Given the description of an element on the screen output the (x, y) to click on. 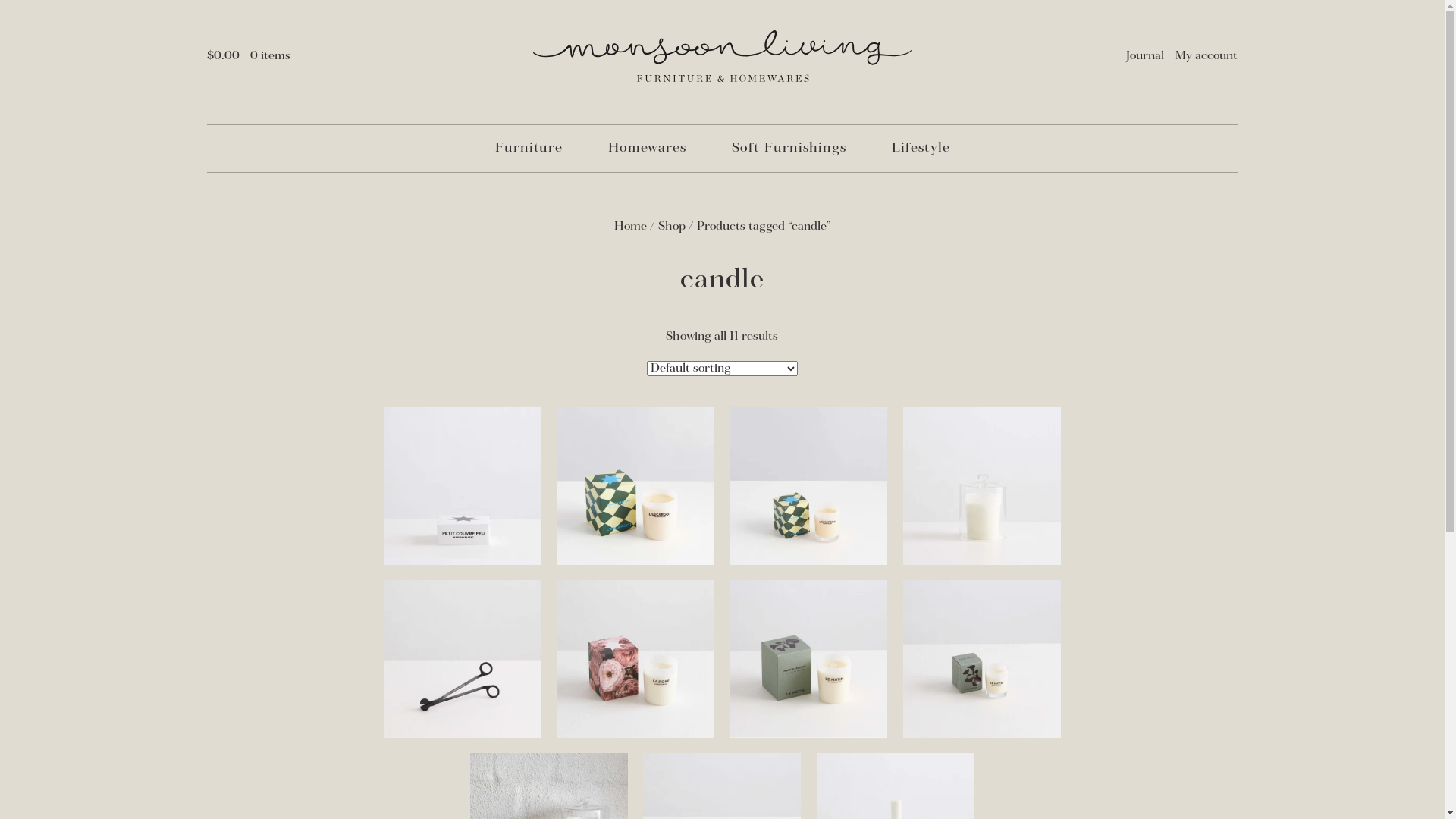
Shop Element type: text (671, 226)
Furniture Element type: text (527, 148)
My account Element type: text (1206, 55)
Lifestyle Element type: text (920, 148)
Soft Furnishings Element type: text (788, 148)
Homewares Element type: text (647, 148)
$0.00 0 items Element type: text (248, 55)
Skip to content Element type: text (0, 109)
Monsoon Living Element type: hover (722, 55)
Home Element type: text (630, 226)
Journal Element type: text (1145, 55)
